Given the description of an element on the screen output the (x, y) to click on. 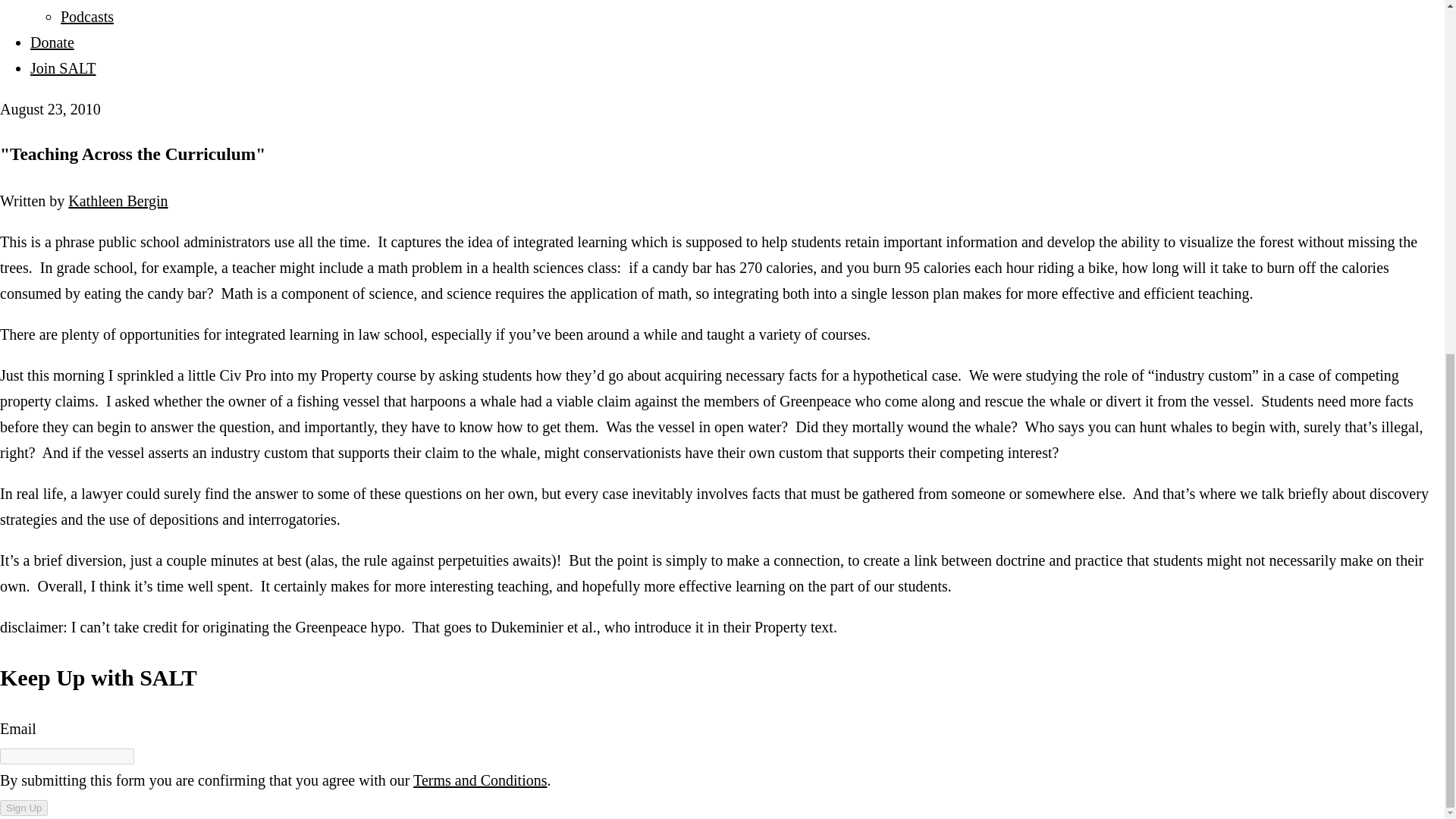
Sign Up (24, 807)
Join SALT (63, 67)
Kathleen Bergin (117, 200)
Terms and Conditions (480, 780)
Donate (52, 42)
Podcasts (87, 16)
Sign Up (24, 807)
